Given the description of an element on the screen output the (x, y) to click on. 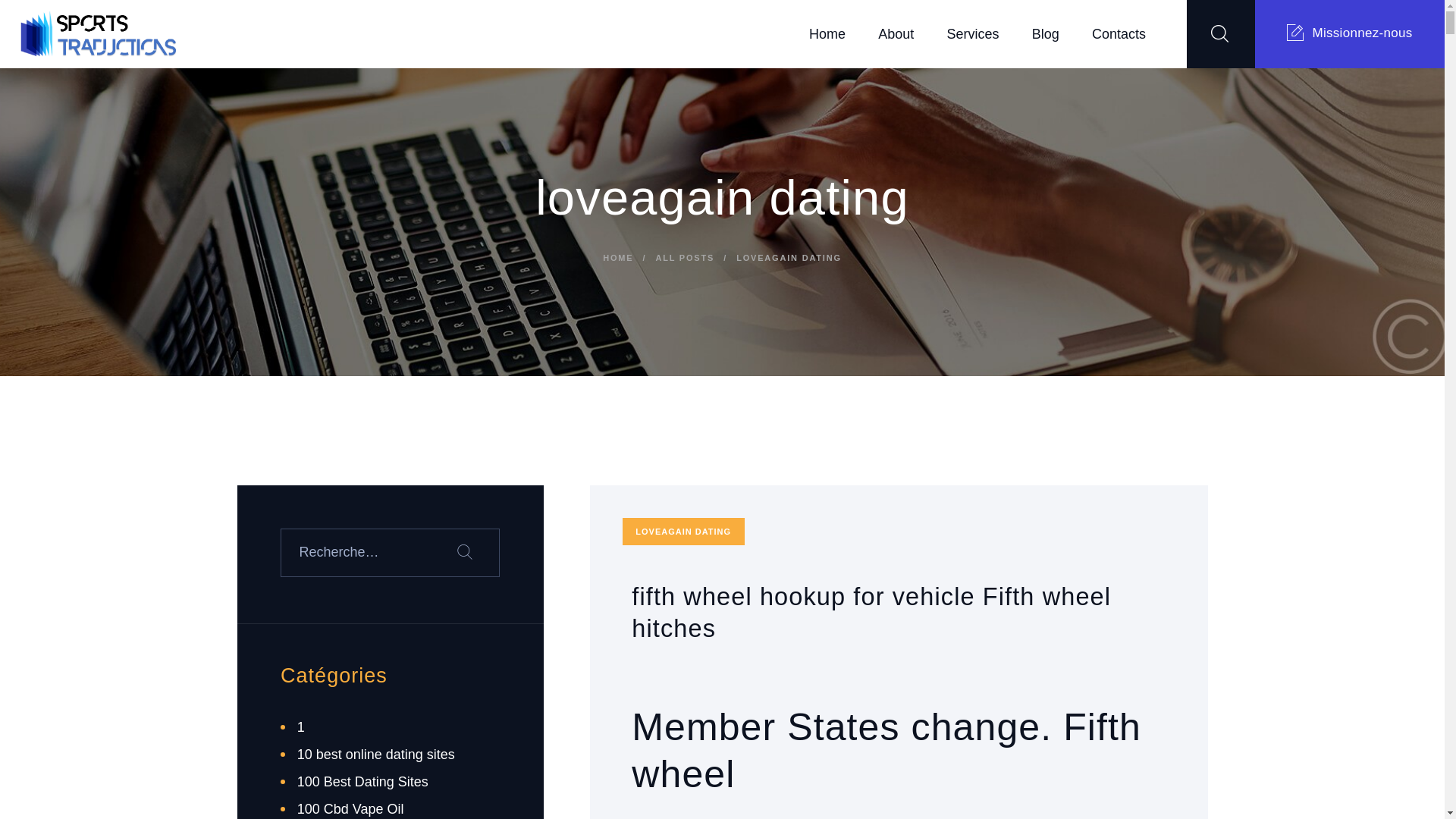
100 Cbd Vape Oil (350, 808)
10 best online dating sites (375, 754)
Rechercher (474, 552)
LOVEAGAIN DATING (683, 531)
100 Best Dating Sites (362, 781)
View all posts in loveagain dating (683, 531)
Blog (1044, 34)
Rechercher (474, 552)
Services (972, 34)
HOME (617, 257)
